Given the description of an element on the screen output the (x, y) to click on. 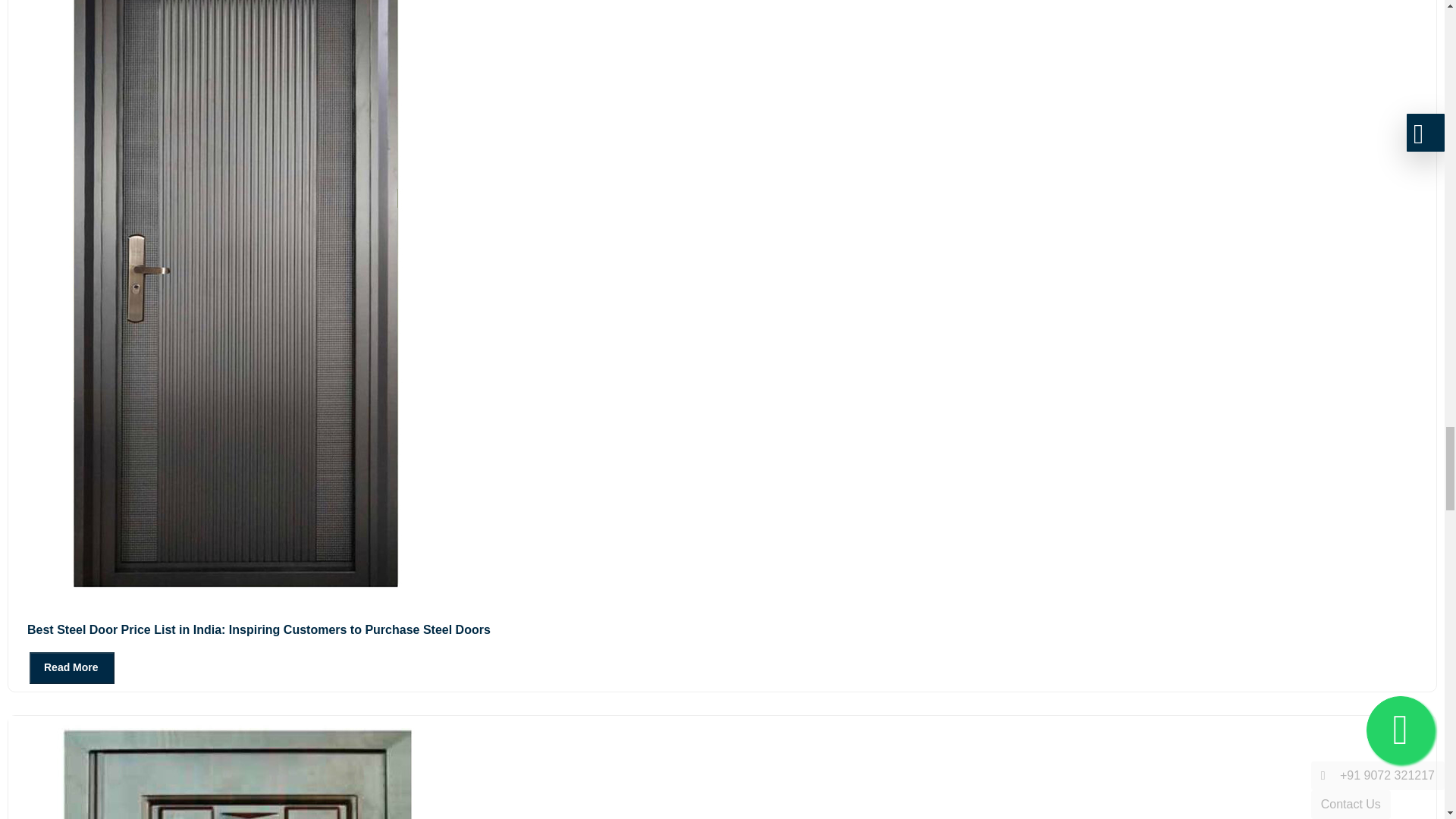
Read More (61, 666)
Read More (72, 667)
